Given the description of an element on the screen output the (x, y) to click on. 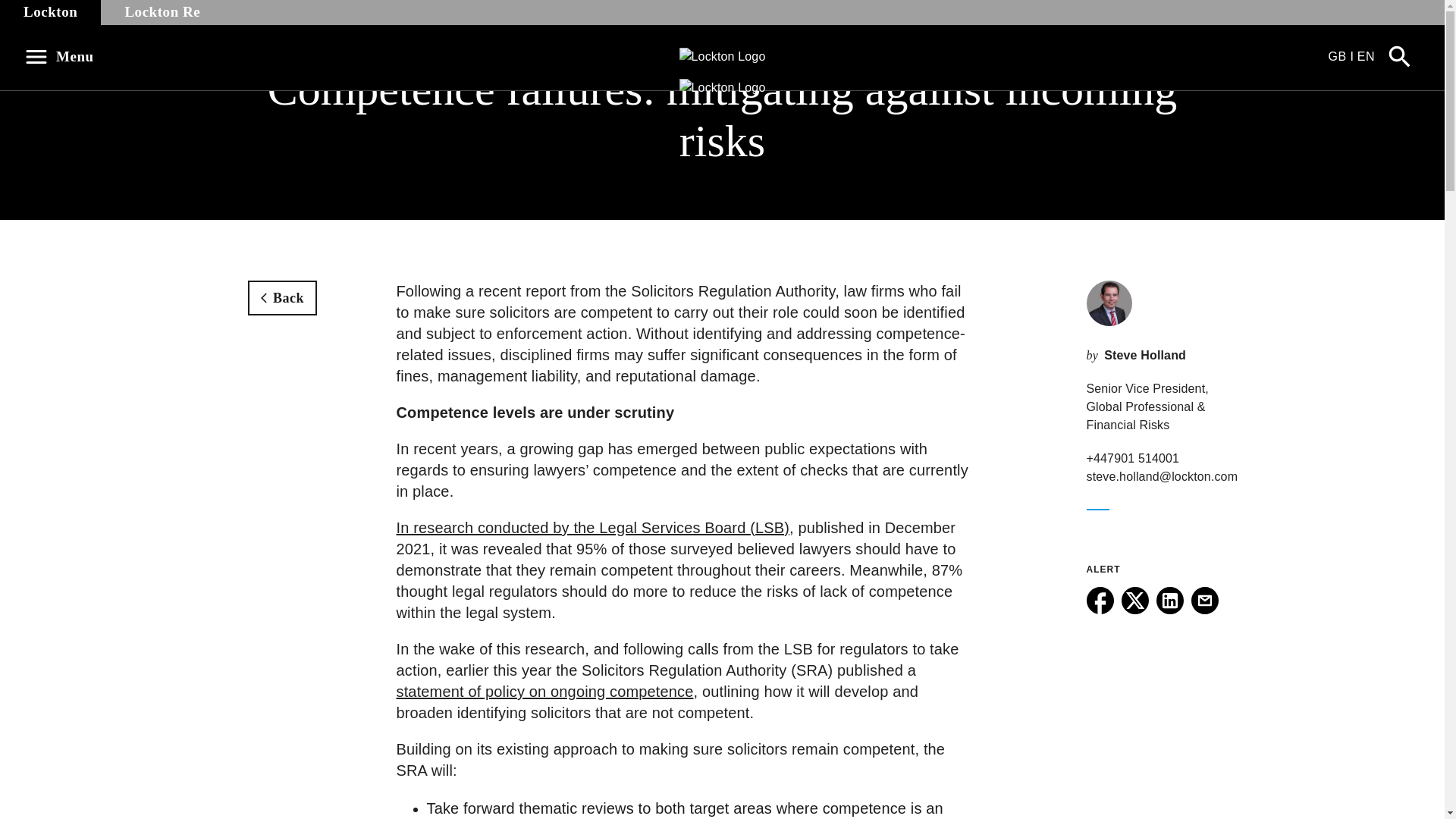
Follow Lockton on Email (1204, 609)
Skip to main content (19, 8)
undefinedLinkedIn (1169, 600)
Share Lockton on Facebook (1099, 609)
undefinedFacebook (1099, 600)
Send Lockton an Email (1204, 609)
Menu (63, 56)
undefinedTwitter (1134, 600)
Share Lockton on LinkedIn (1169, 609)
Follow Lockton on Twitter (1134, 609)
